Given the description of an element on the screen output the (x, y) to click on. 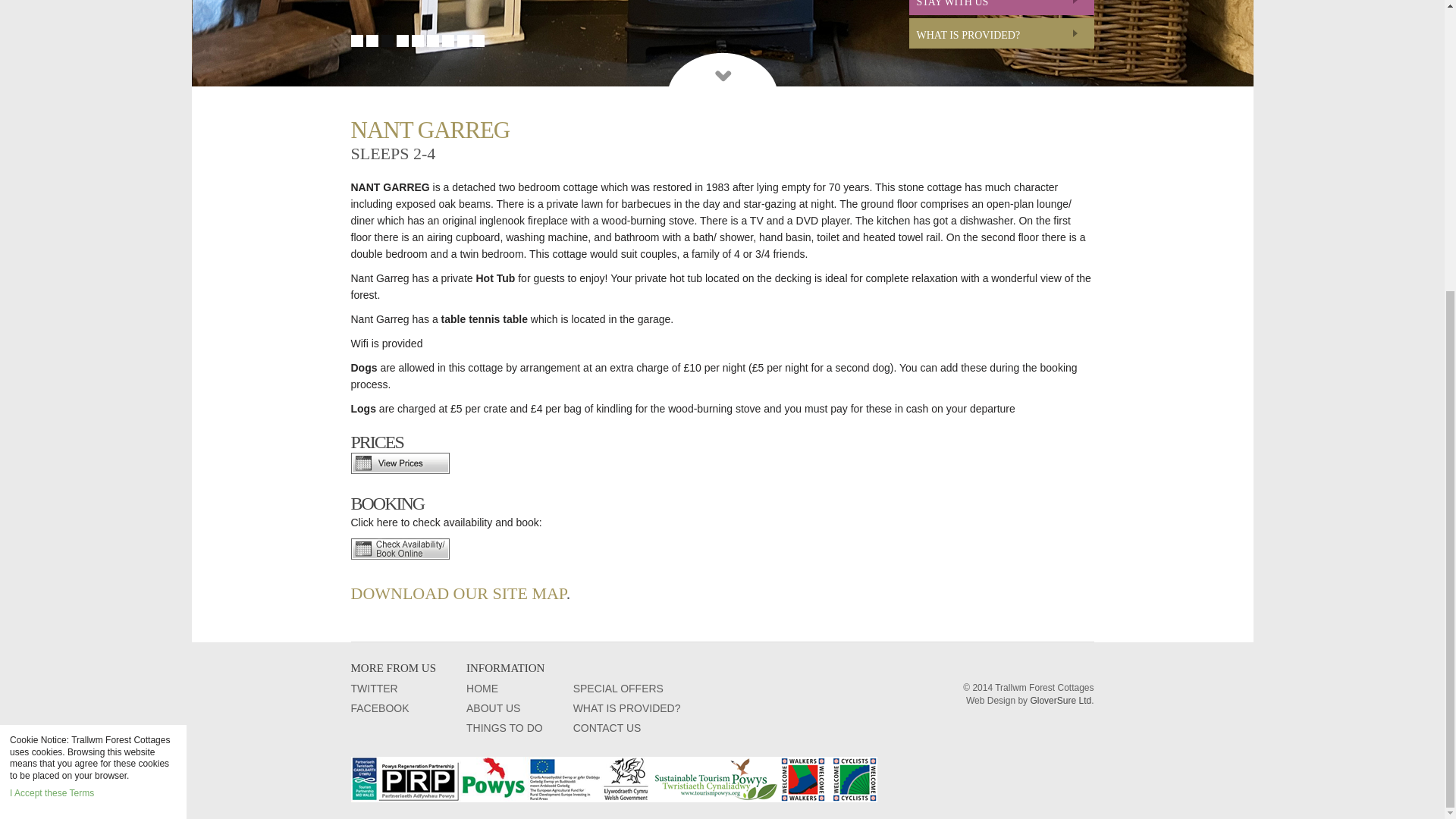
1 (356, 40)
I Accept these Terms (52, 348)
5 (416, 40)
2 (371, 40)
6 (432, 40)
4 (401, 40)
7 (446, 40)
3 (386, 40)
